Given the description of an element on the screen output the (x, y) to click on. 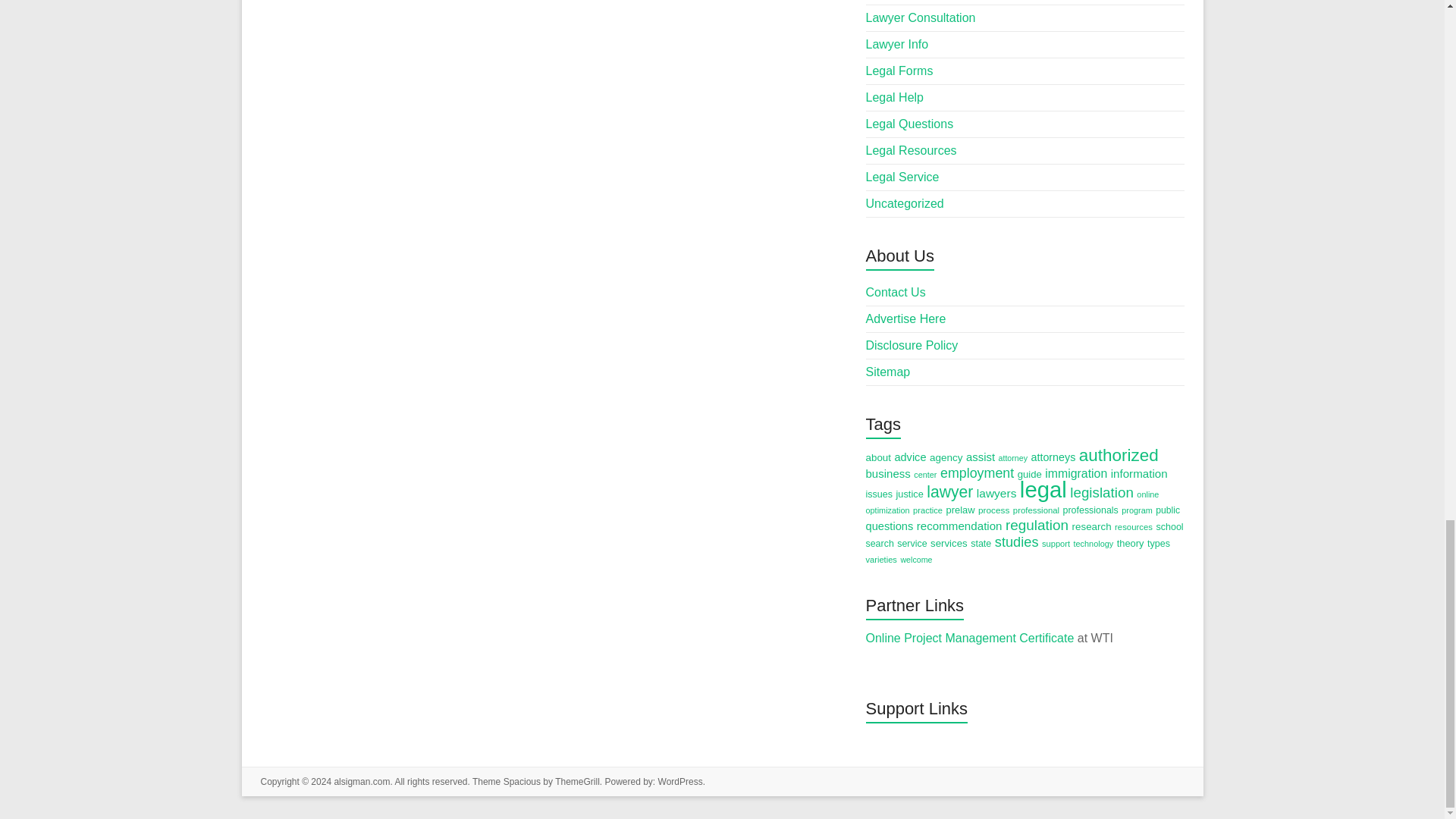
WordPress (680, 781)
Spacious (521, 781)
alsigman.com (361, 781)
